Given the description of an element on the screen output the (x, y) to click on. 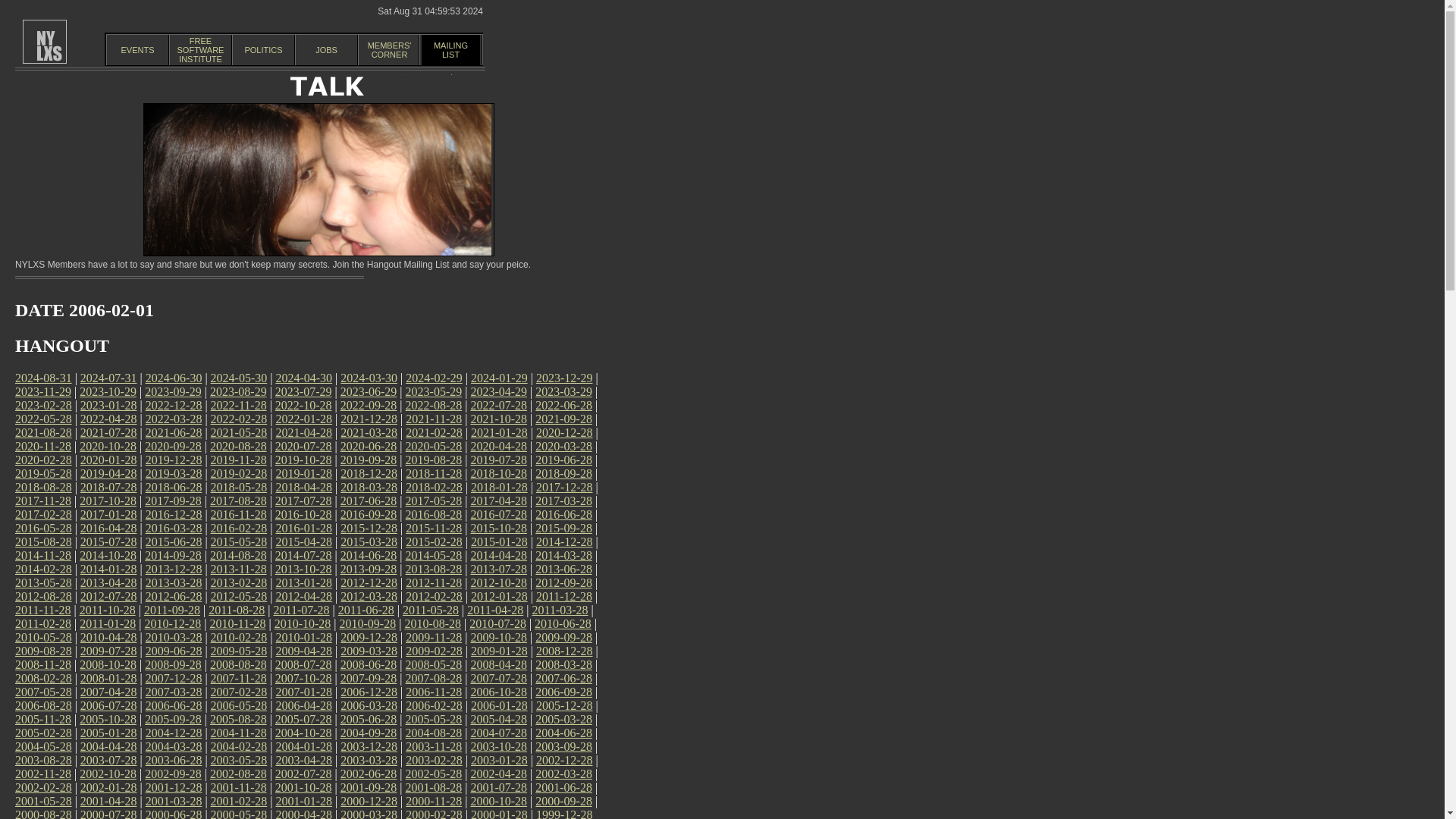
2024-01-29 (498, 377)
EVENTS (137, 49)
JOBS (200, 49)
2022-10-28 (326, 49)
2023-09-29 (303, 404)
2023-05-29 (450, 49)
2022-03-28 (173, 391)
2022-09-28 (434, 391)
